Given the description of an element on the screen output the (x, y) to click on. 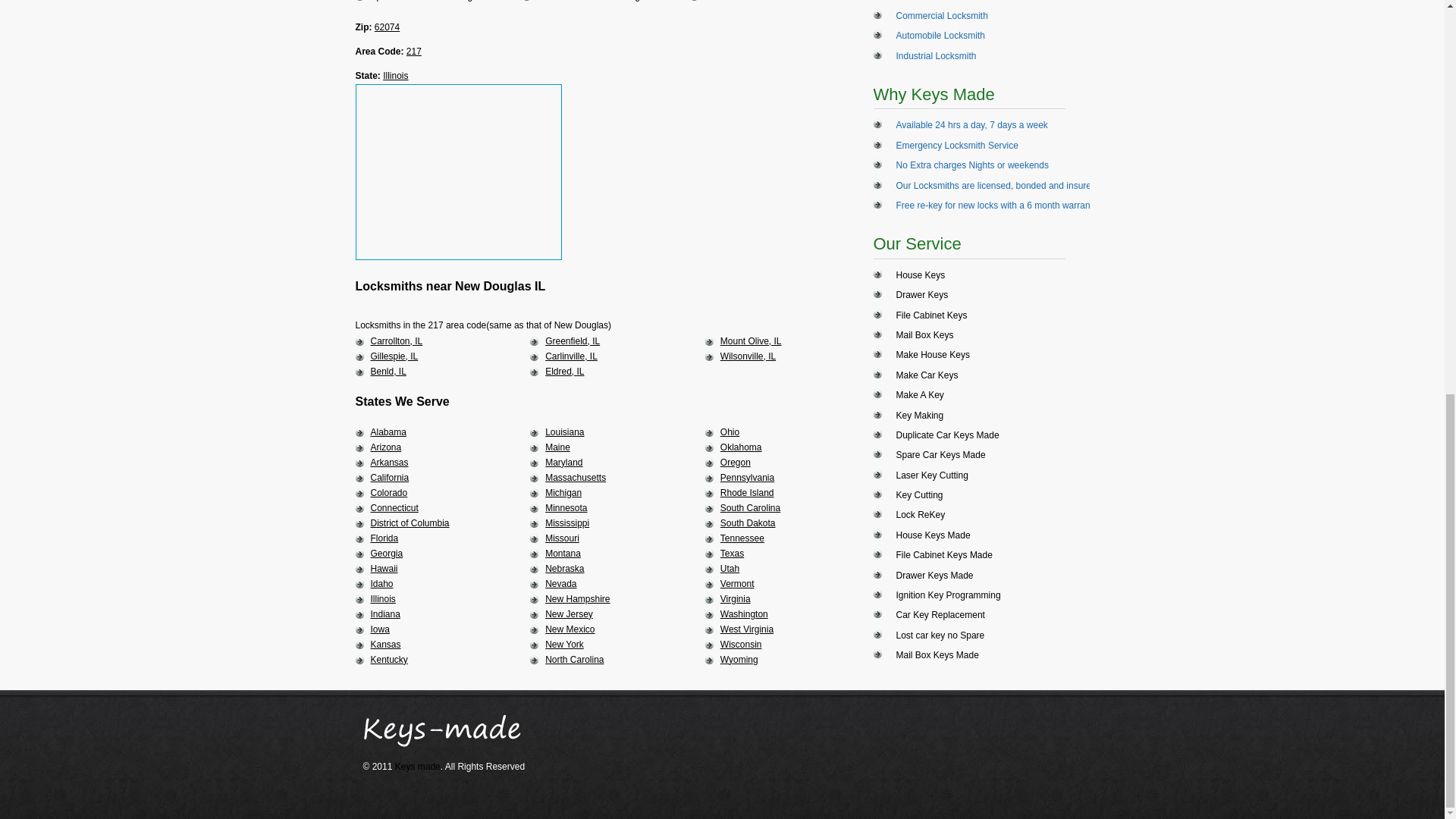
Idaho (381, 583)
Illinois (394, 75)
Mount Olive, IL (750, 340)
Drawer Keys (922, 294)
Eldred, IL (563, 371)
217 (414, 50)
Iowa (378, 629)
Carlinville, IL (570, 356)
Florida (383, 538)
